Given the description of an element on the screen output the (x, y) to click on. 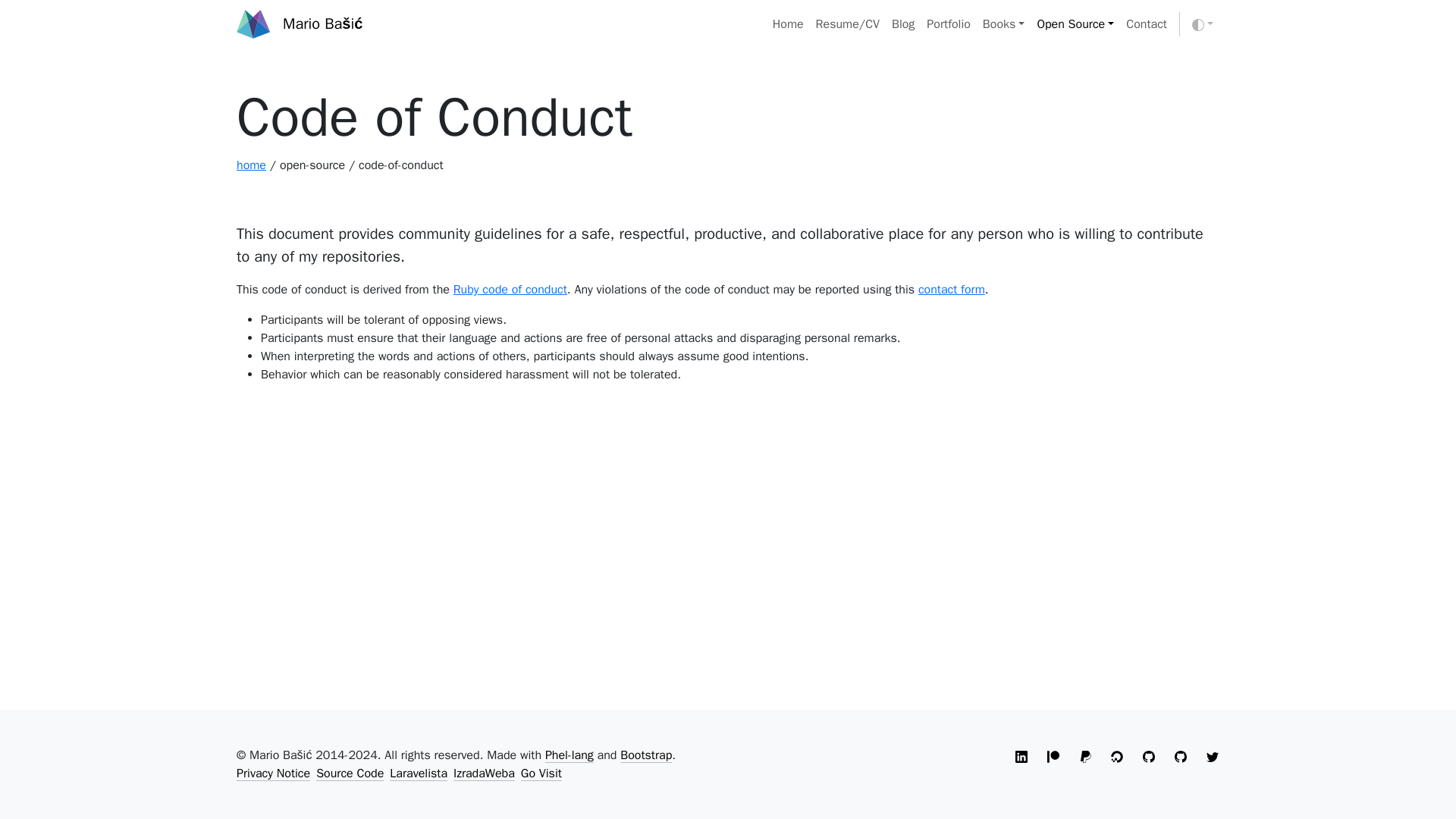
Contact (1146, 24)
contact form (951, 289)
Laravelista (418, 773)
Home (788, 24)
Go Visit (541, 773)
Phel-lang (569, 754)
home (250, 165)
Open Source (1074, 24)
Books (1003, 24)
Ruby code of conduct (509, 289)
